Given the description of an element on the screen output the (x, y) to click on. 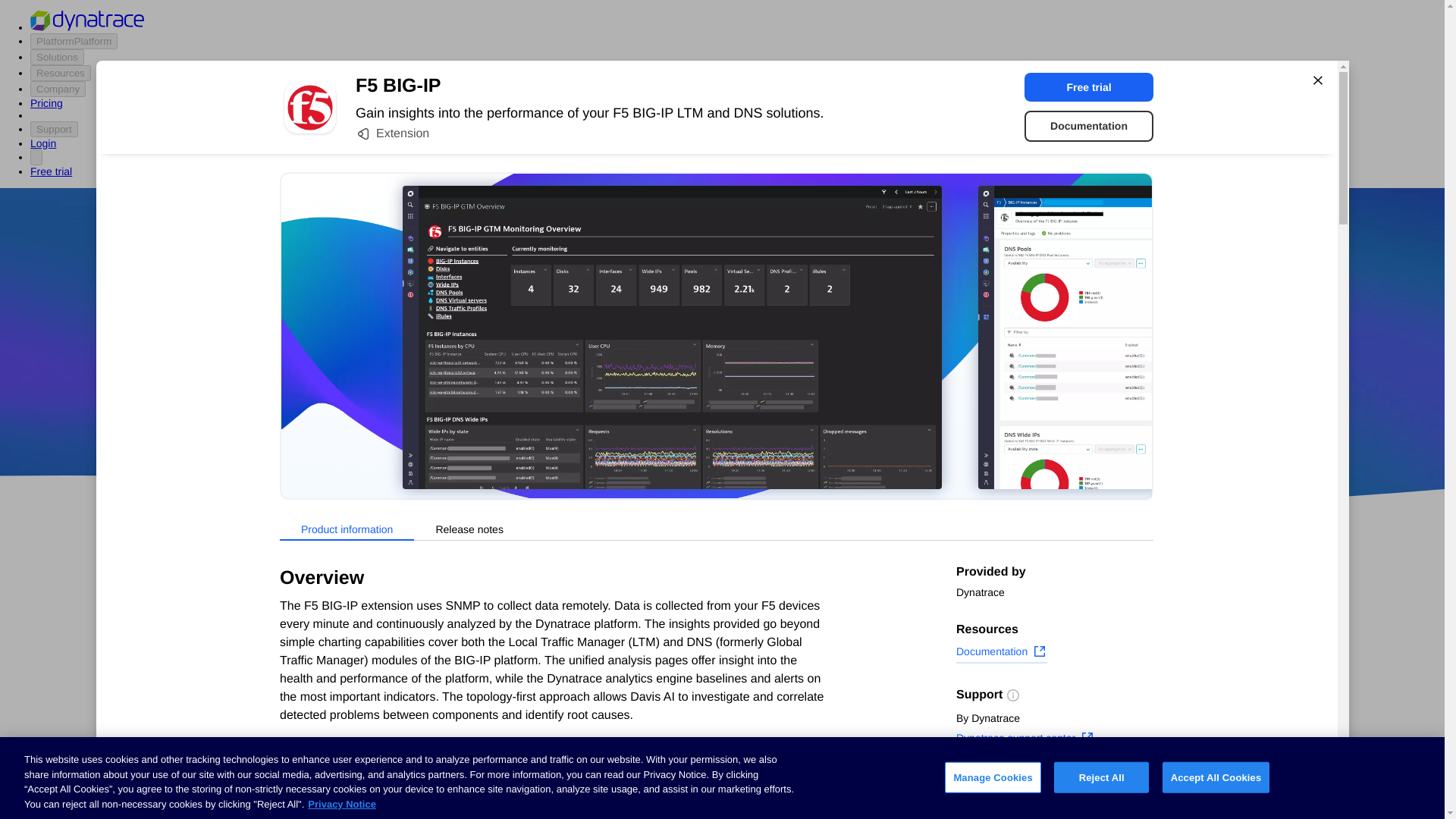
DevOps (829, 418)
Dynatrace support center (1025, 740)
Google Cloud (751, 418)
 certificate ssl synthetic test (607, 793)
Documentation (1001, 653)
AWS (637, 418)
Open source (903, 418)
Copy page link (1003, 806)
360performance (840, 375)
Documentation (1089, 125)
Free trial (1089, 86)
Advanced SSL Certificate Check for Dynatrace (606, 731)
Subscribe to new releases (1054, 782)
360performance (840, 375)
Azure (681, 418)
